Given the description of an element on the screen output the (x, y) to click on. 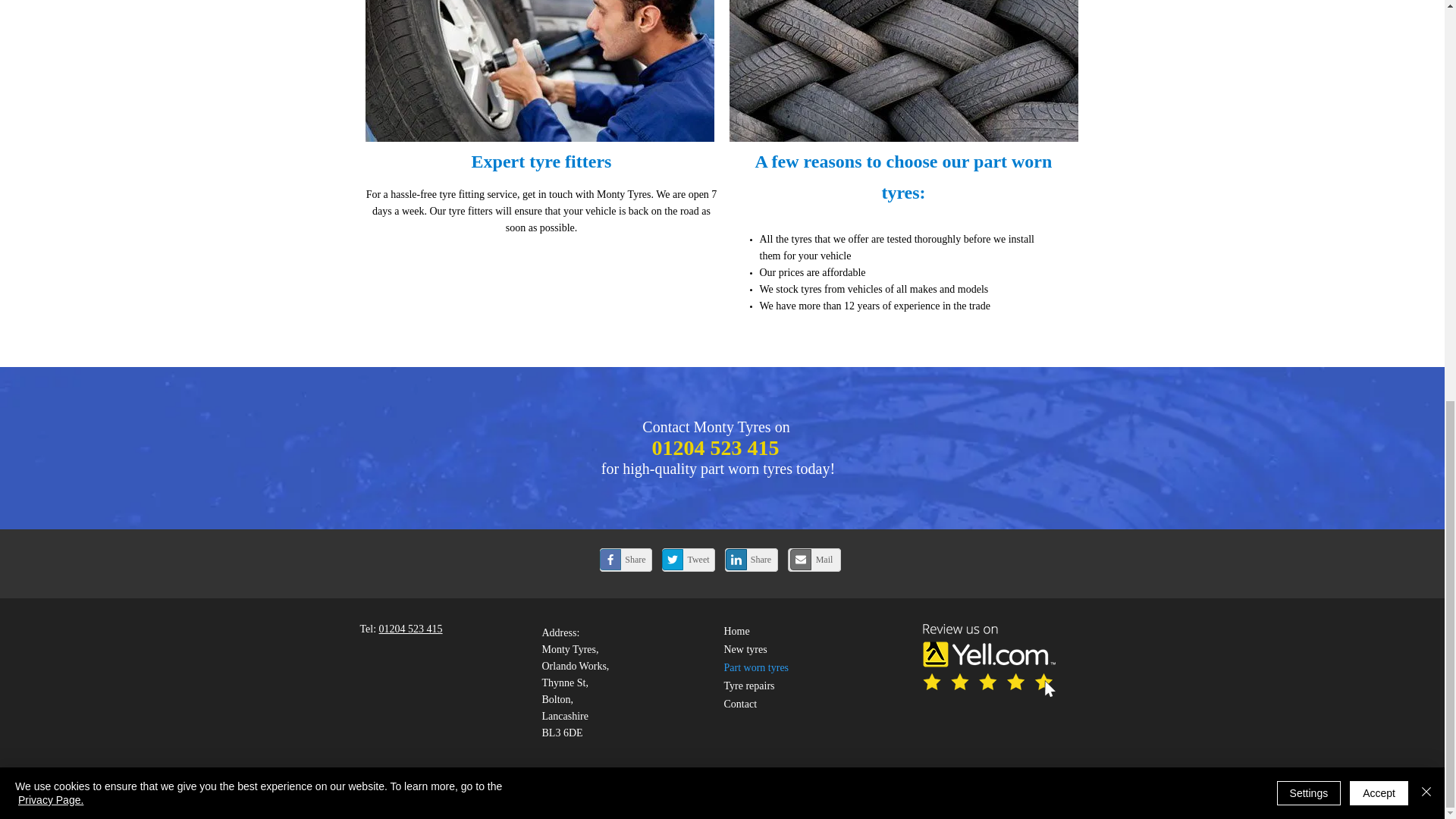
Home (736, 631)
Mail (815, 559)
Review us on Yell.com (989, 660)
Accept (1378, 9)
Terms of Use (560, 781)
Settings (1308, 9)
Tweet (688, 559)
Tyre repairs (748, 685)
Share (624, 559)
Privacy Page. (49, 14)
Contact (740, 703)
Trading Terms (753, 781)
New tyres (745, 649)
Yell Business (874, 781)
01204 523 415 (410, 628)
